Given the description of an element on the screen output the (x, y) to click on. 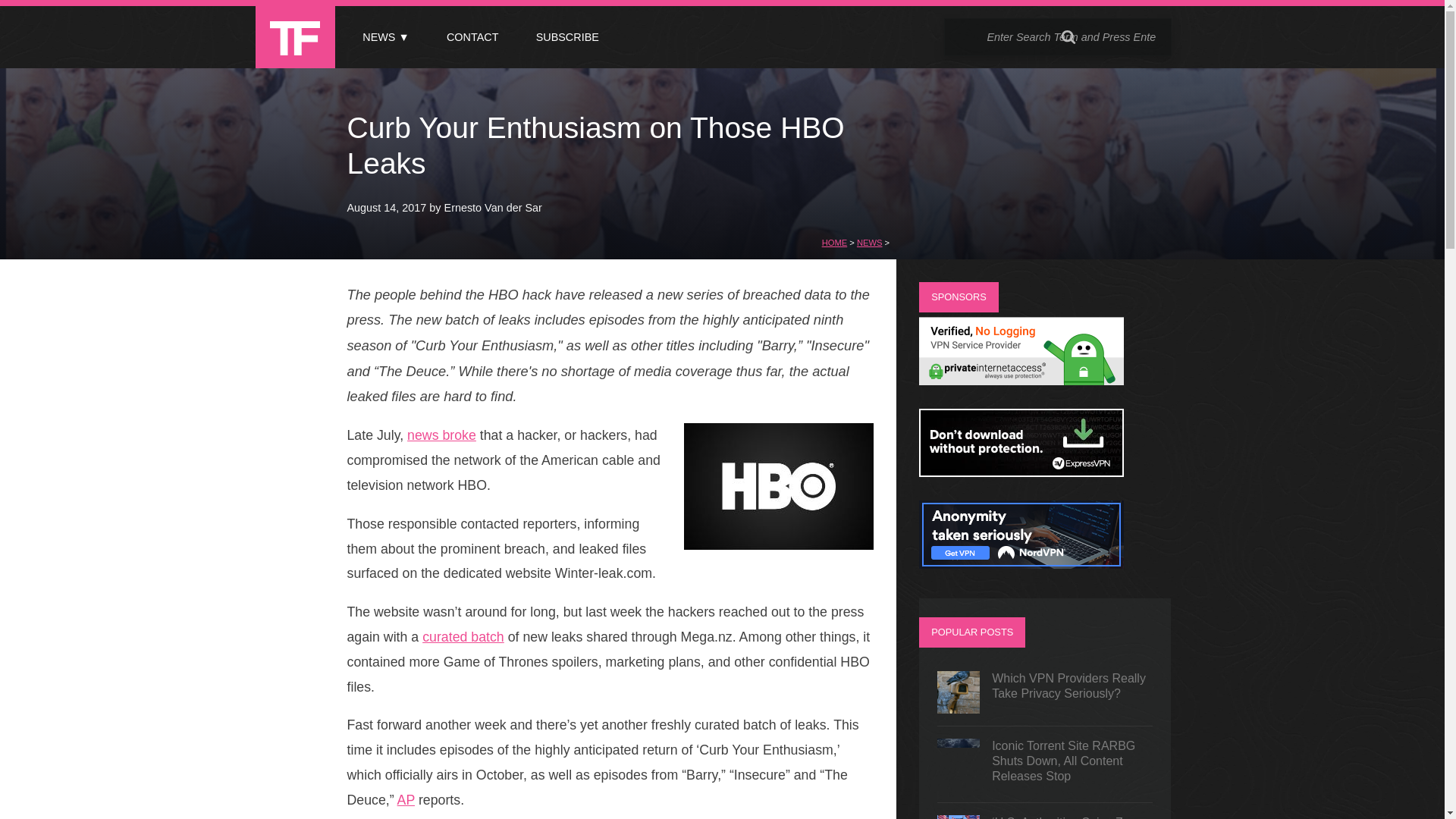
Go to TorrentFreak. (834, 242)
ExpressVPN (1021, 472)
Private Internet Access (1021, 380)
HOME (834, 242)
news broke (441, 435)
CONTACT (471, 37)
curated batch (462, 636)
SUBSCRIBE (566, 37)
AP (405, 799)
